Given the description of an element on the screen output the (x, y) to click on. 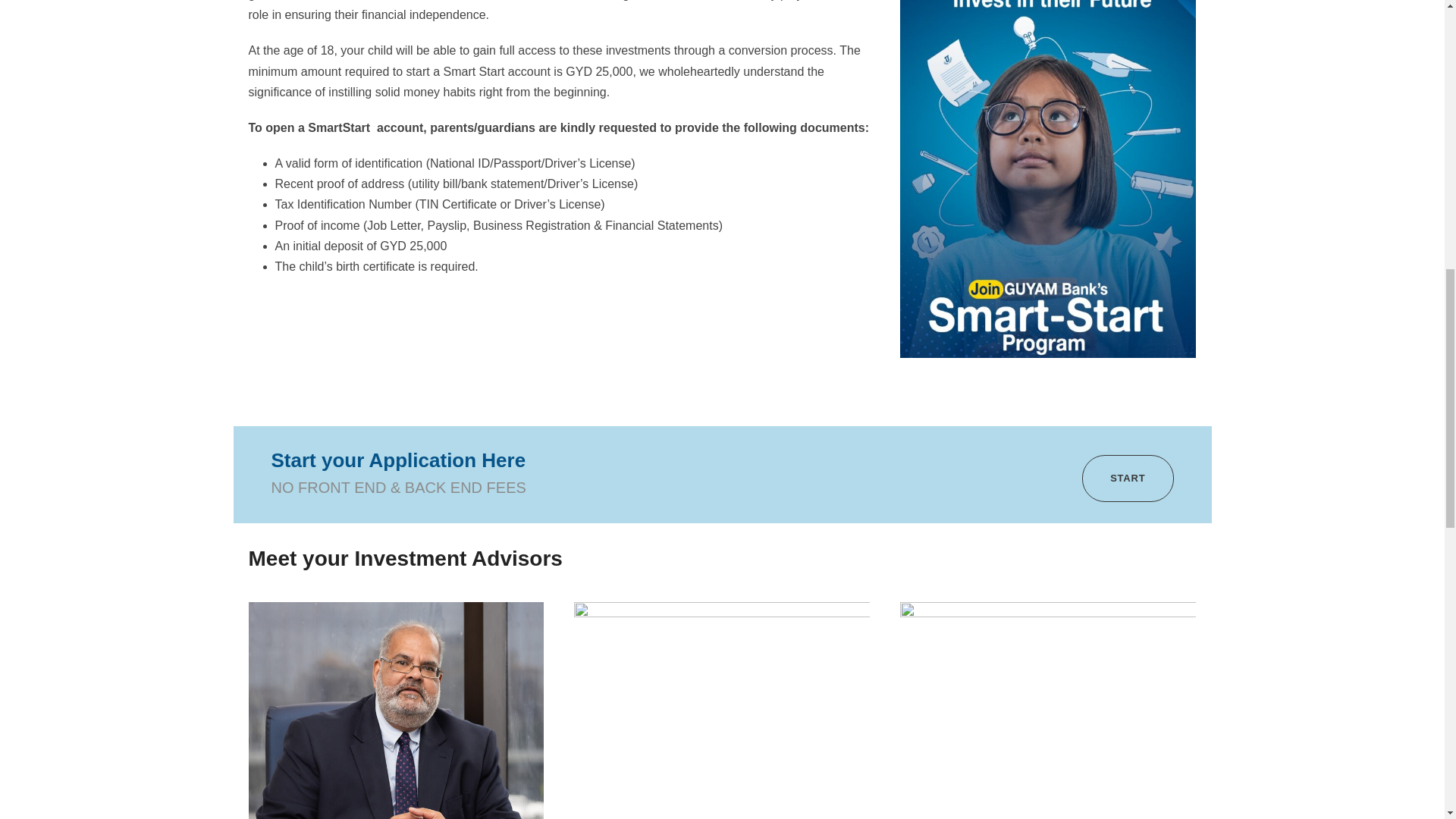
gj1x1-2 (721, 710)
r1x1 (396, 710)
START (1127, 478)
mn1x1 (1047, 710)
